Given the description of an element on the screen output the (x, y) to click on. 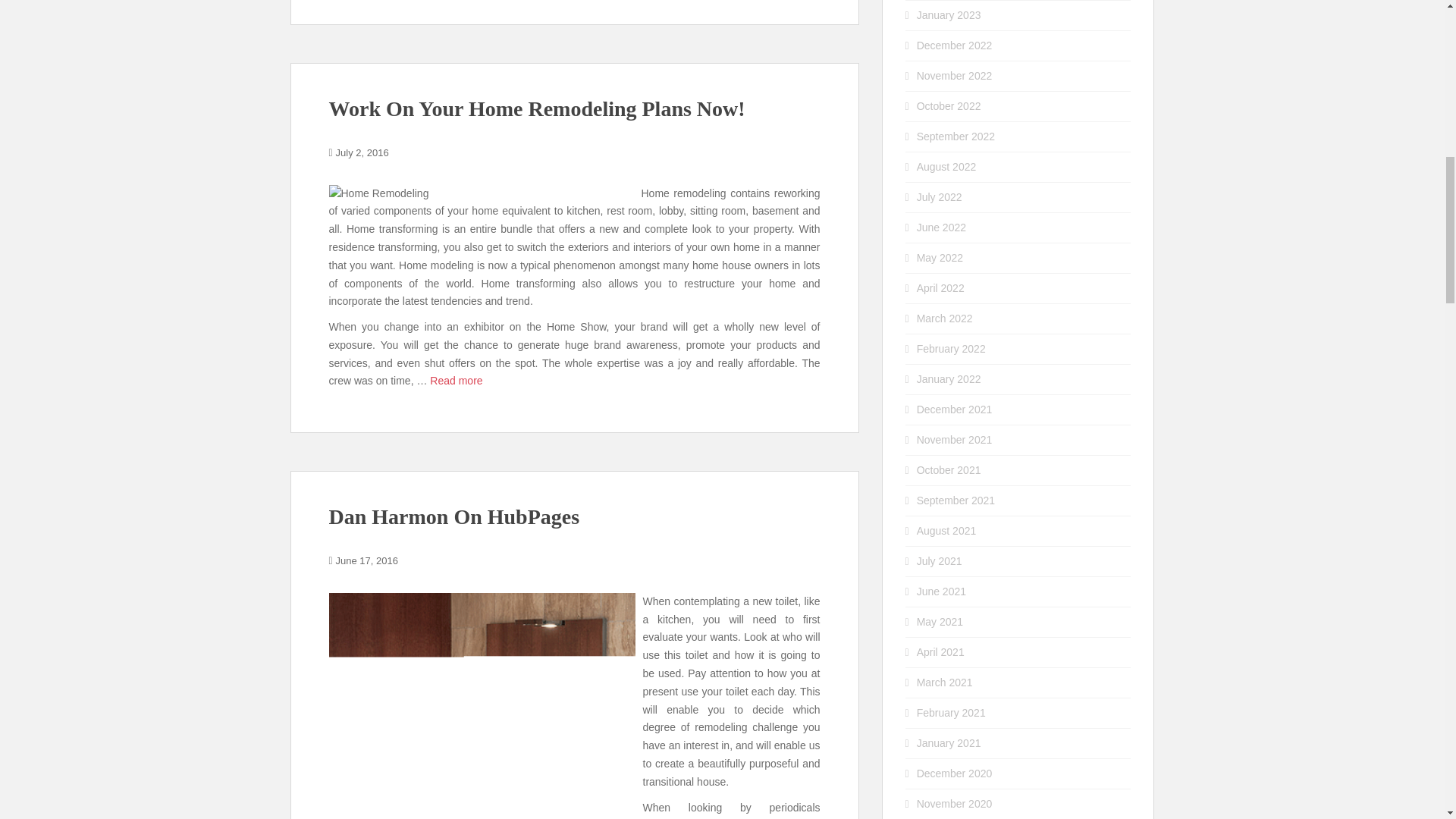
Work On Your Home Remodeling Plans Now! (537, 108)
Dan Harmon On HubPages (454, 516)
July 2, 2016 (362, 152)
June 17, 2016 (366, 560)
Read more (455, 380)
